Given the description of an element on the screen output the (x, y) to click on. 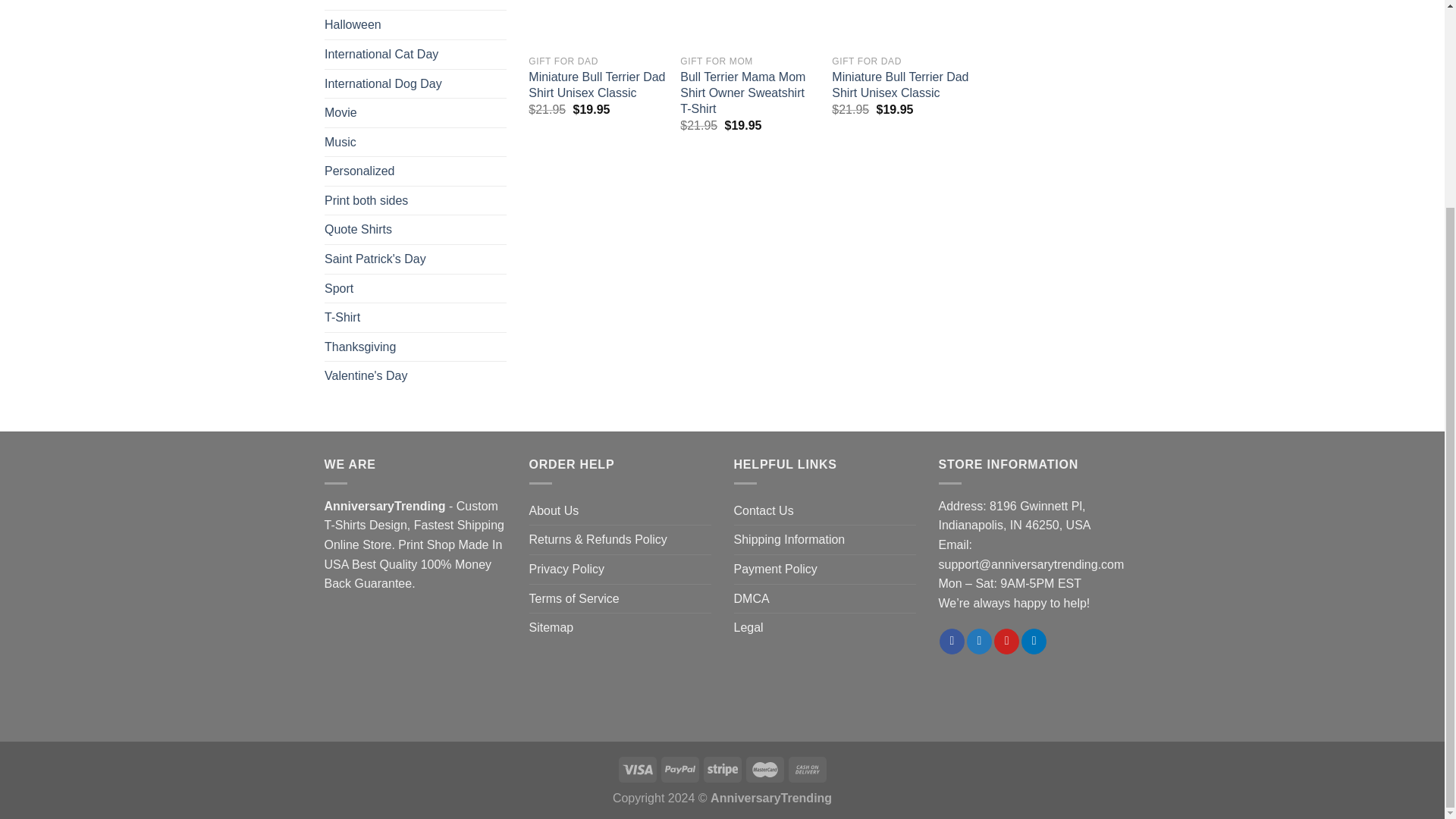
Personalized (415, 171)
Quote Shirts (415, 229)
Print both sides (415, 200)
T-Shirt (415, 317)
Music (415, 141)
Follow on Facebook (951, 641)
International Dog Day (415, 82)
Follow on Pinterest (1006, 641)
Thanksgiving (415, 346)
Follow on LinkedIn (1034, 641)
